Given the description of an element on the screen output the (x, y) to click on. 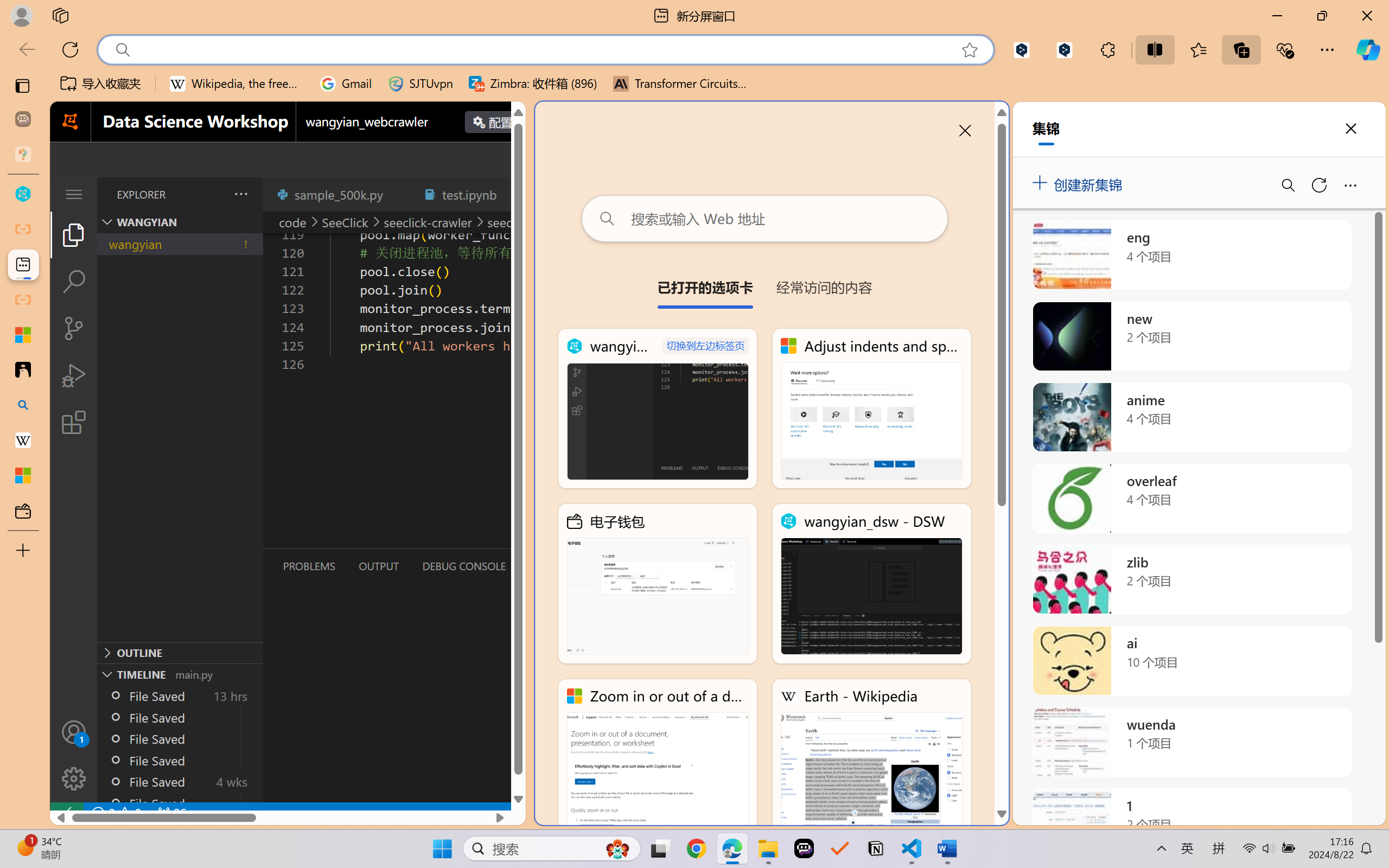
Earth - Wikipedia (22, 440)
sample_500k.py (336, 194)
Transformer Circuits Thread (680, 83)
Search (Ctrl+Shift+F) (73, 281)
No Problems (115, 812)
